Given the description of an element on the screen output the (x, y) to click on. 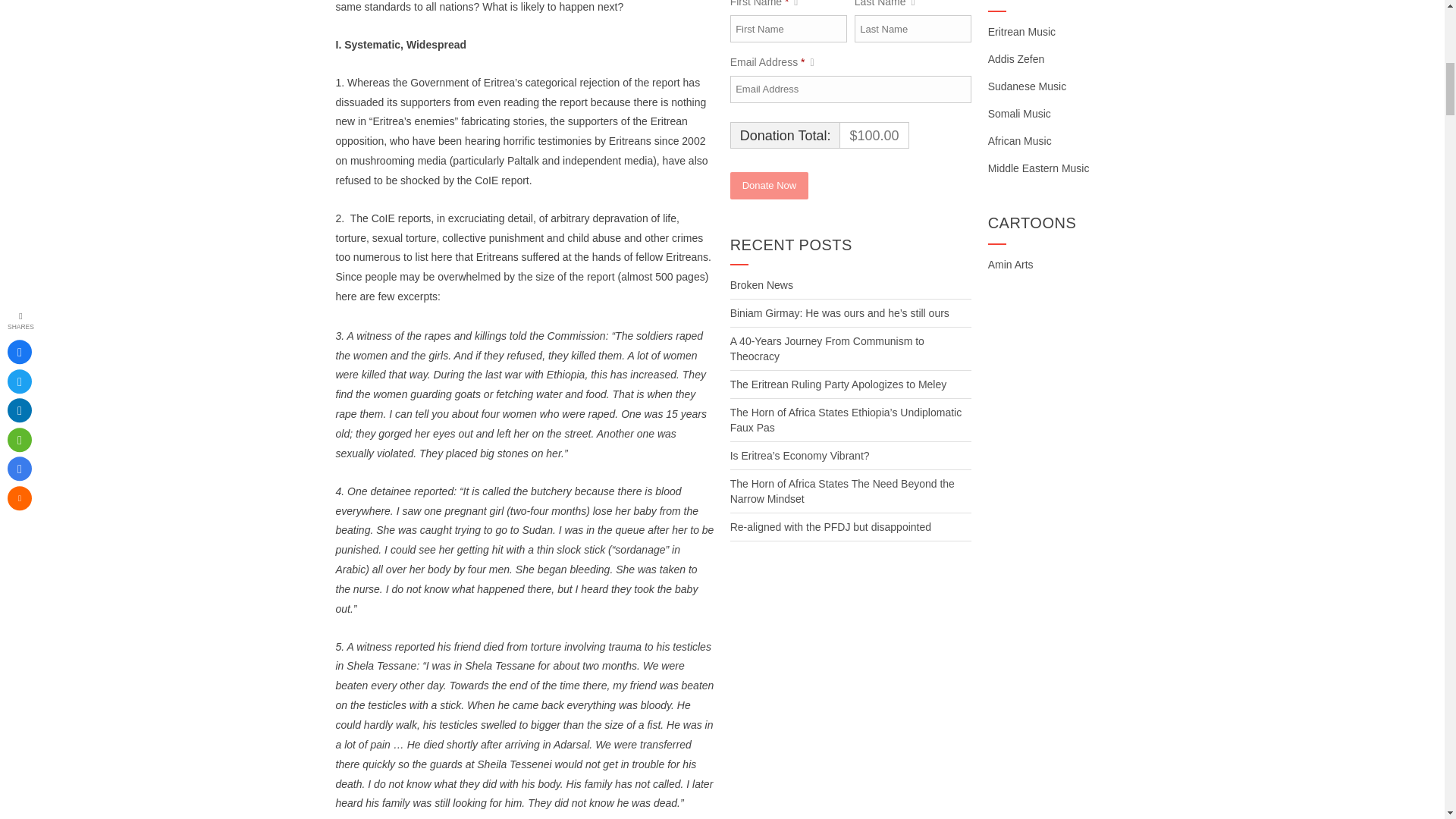
Donate Now (769, 185)
